Given the description of an element on the screen output the (x, y) to click on. 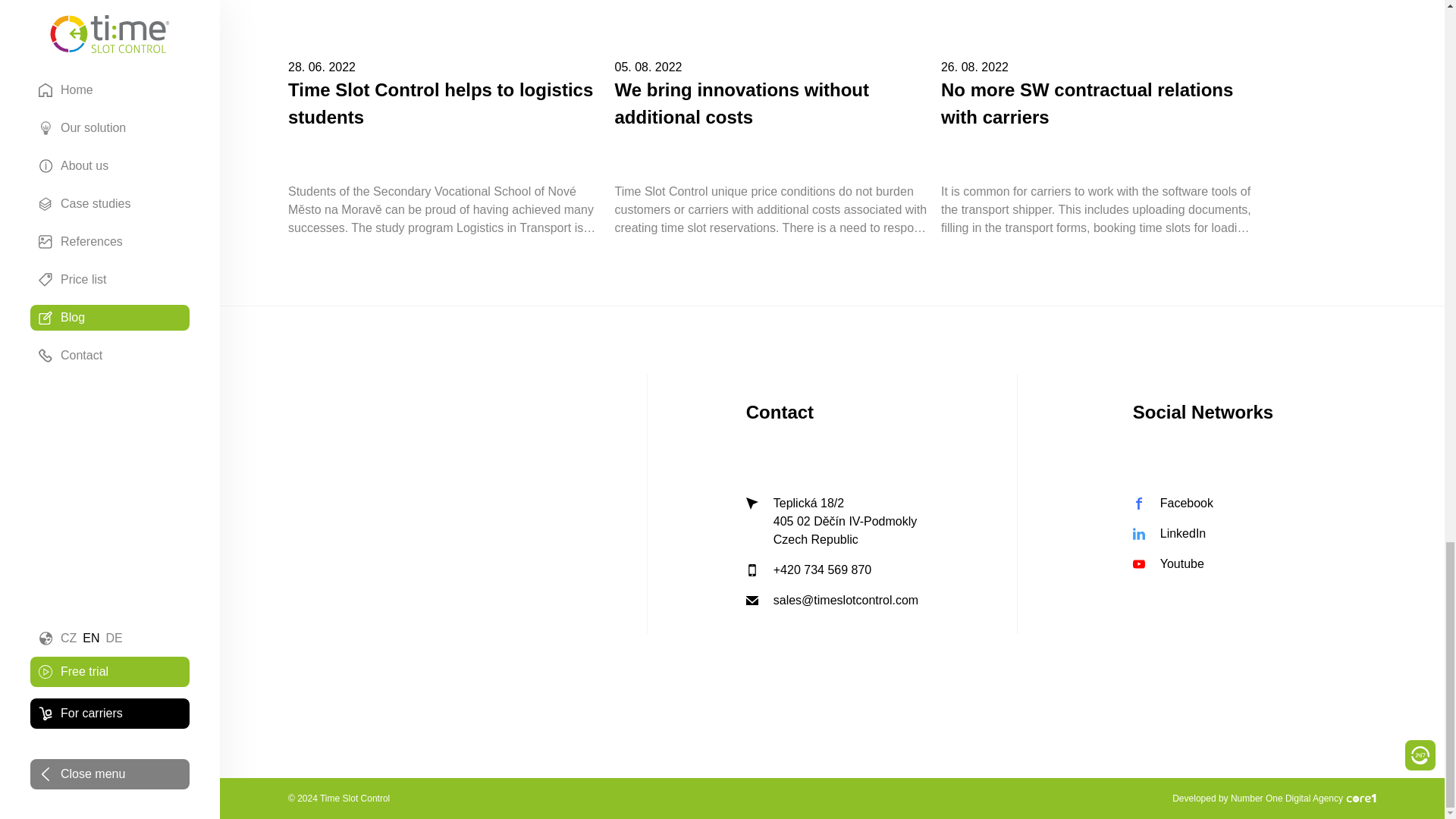
Youtube (1202, 564)
No more SW contractual relations with carriers (1097, 103)
Number One Digital Agency core1 (1360, 797)
Time Slot Control helps to logistics students (445, 103)
LinkedIn (1202, 533)
Facebook (1172, 503)
We bring innovations without additional costs (771, 103)
